Given the description of an element on the screen output the (x, y) to click on. 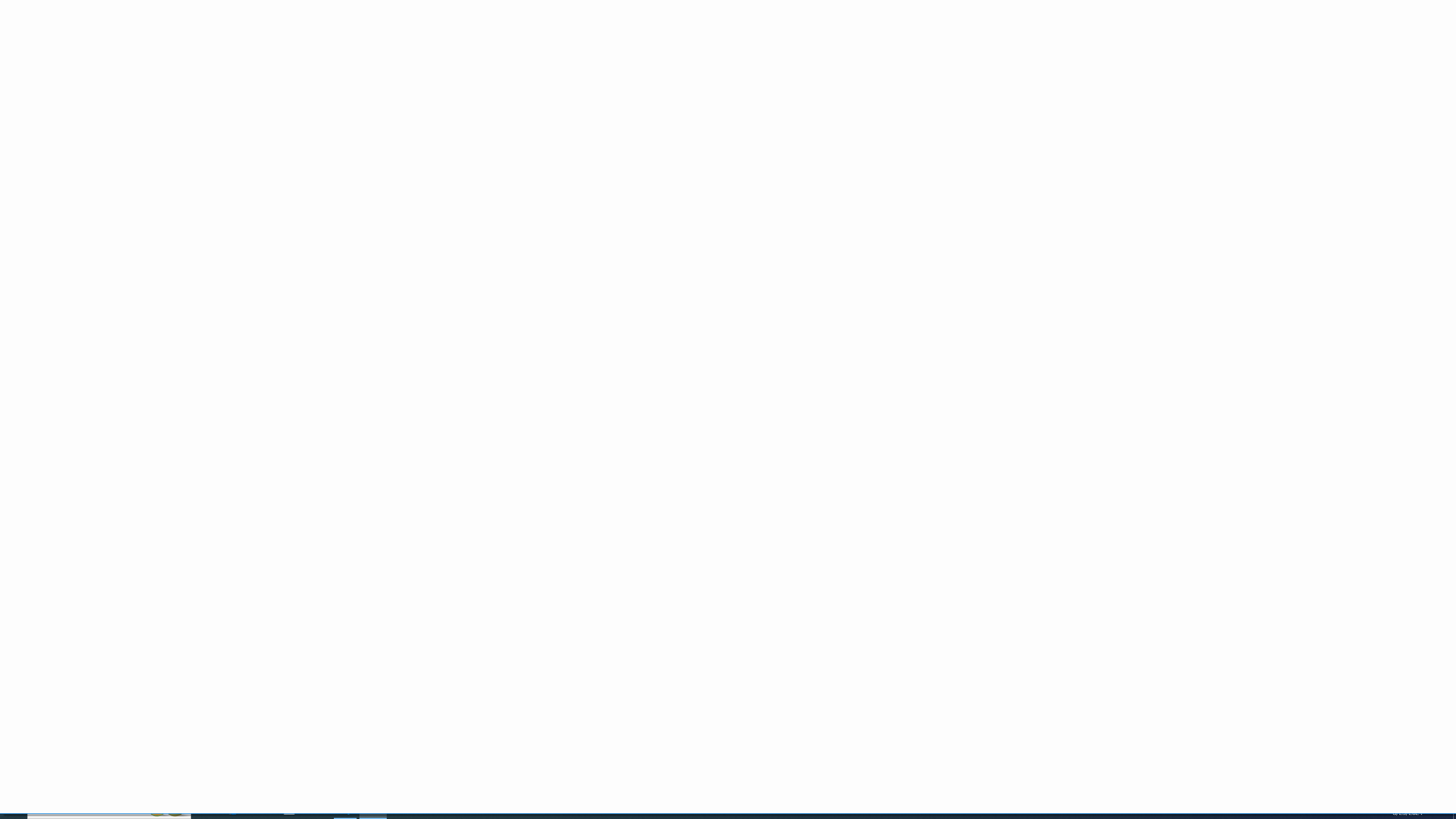
Format Cell Alignment (405, 85)
Decrease Indent (307, 67)
Center (276, 67)
Fill Color (188, 67)
Paste (16, 58)
Cut (42, 44)
Sort & Filter (1049, 58)
Format Painter (58, 72)
Class: NetUIImage (887, 68)
Decrease Font Size (240, 49)
